Given the description of an element on the screen output the (x, y) to click on. 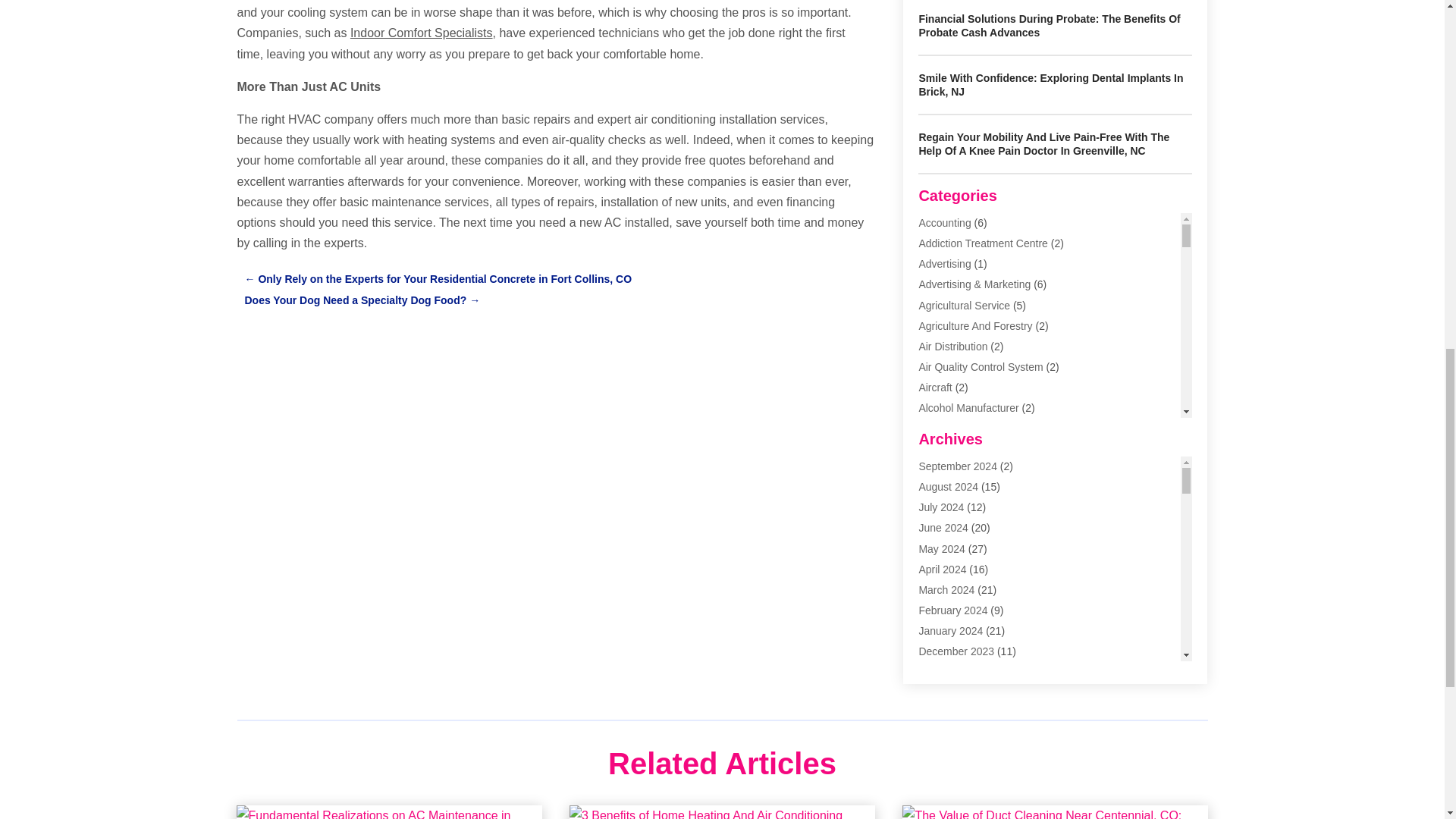
Air Quality Control System (980, 367)
Apartment Building (962, 469)
Agriculture And Forestry (975, 326)
Air Distribution (952, 346)
Addiction Treatment Centre (982, 243)
Alcohol Manufacturer (967, 408)
Asbestos Testing (958, 510)
Accounting (944, 223)
